Given the description of an element on the screen output the (x, y) to click on. 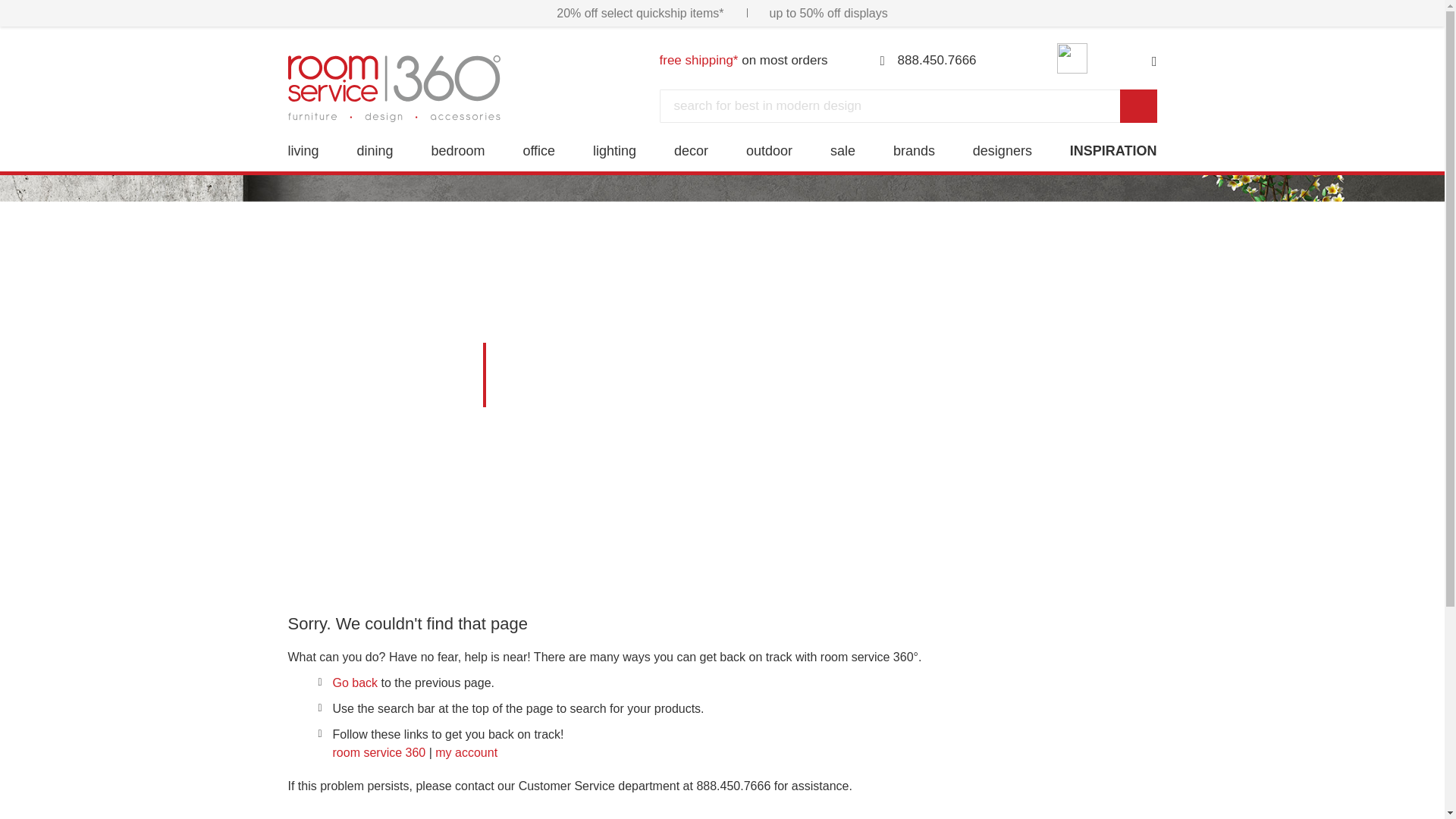
dining (374, 150)
living (303, 150)
888.450.7666 (928, 60)
